Given the description of an element on the screen output the (x, y) to click on. 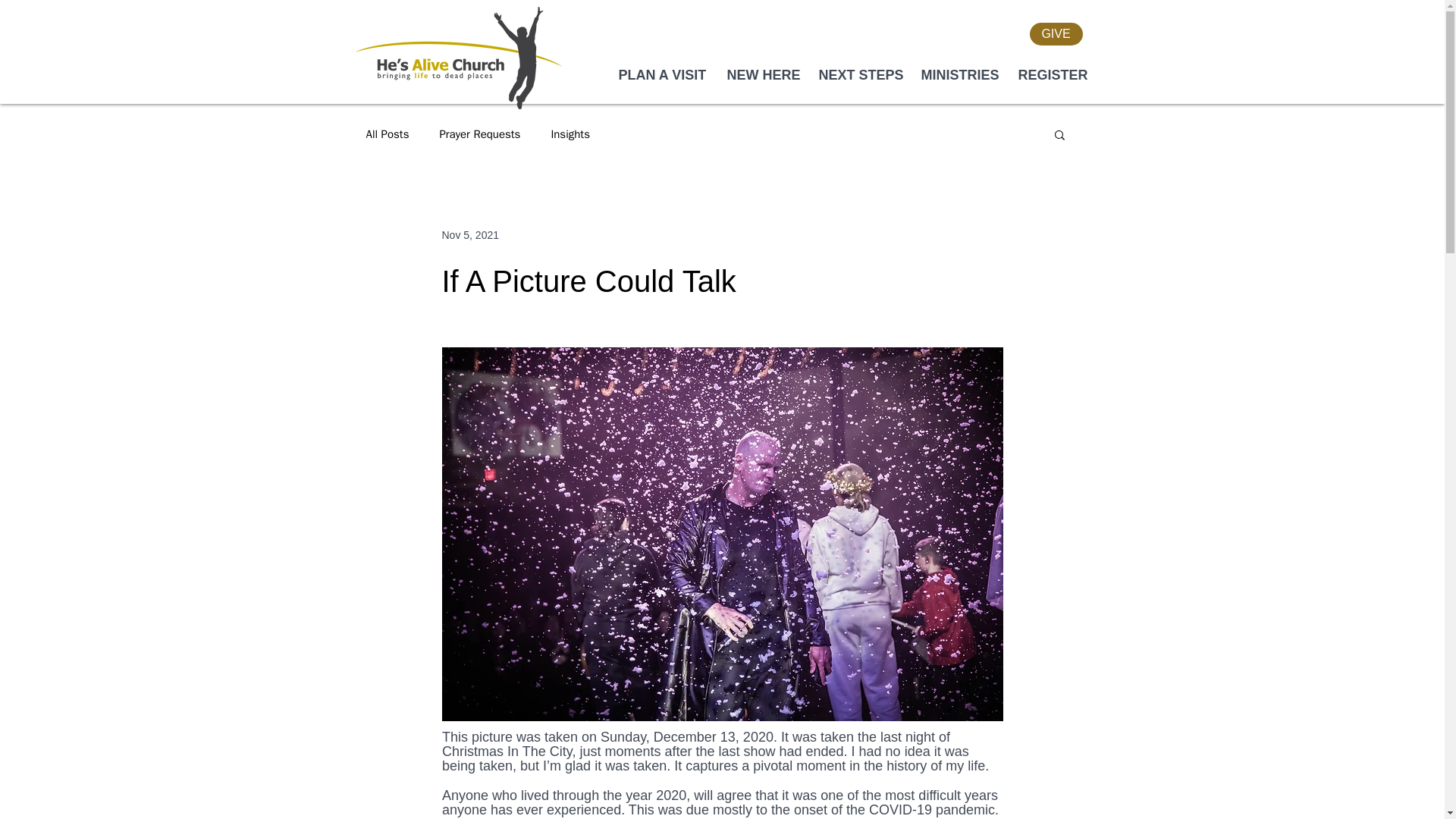
NEXT STEPS (857, 74)
Insights (569, 134)
NEW HERE (762, 74)
Nov 5, 2021 (470, 234)
Prayer Requests (479, 134)
GIVE (1056, 33)
All Posts (387, 134)
MINISTRIES (958, 74)
PLAN A VISIT (660, 74)
REGISTER (1050, 74)
